Given the description of an element on the screen output the (x, y) to click on. 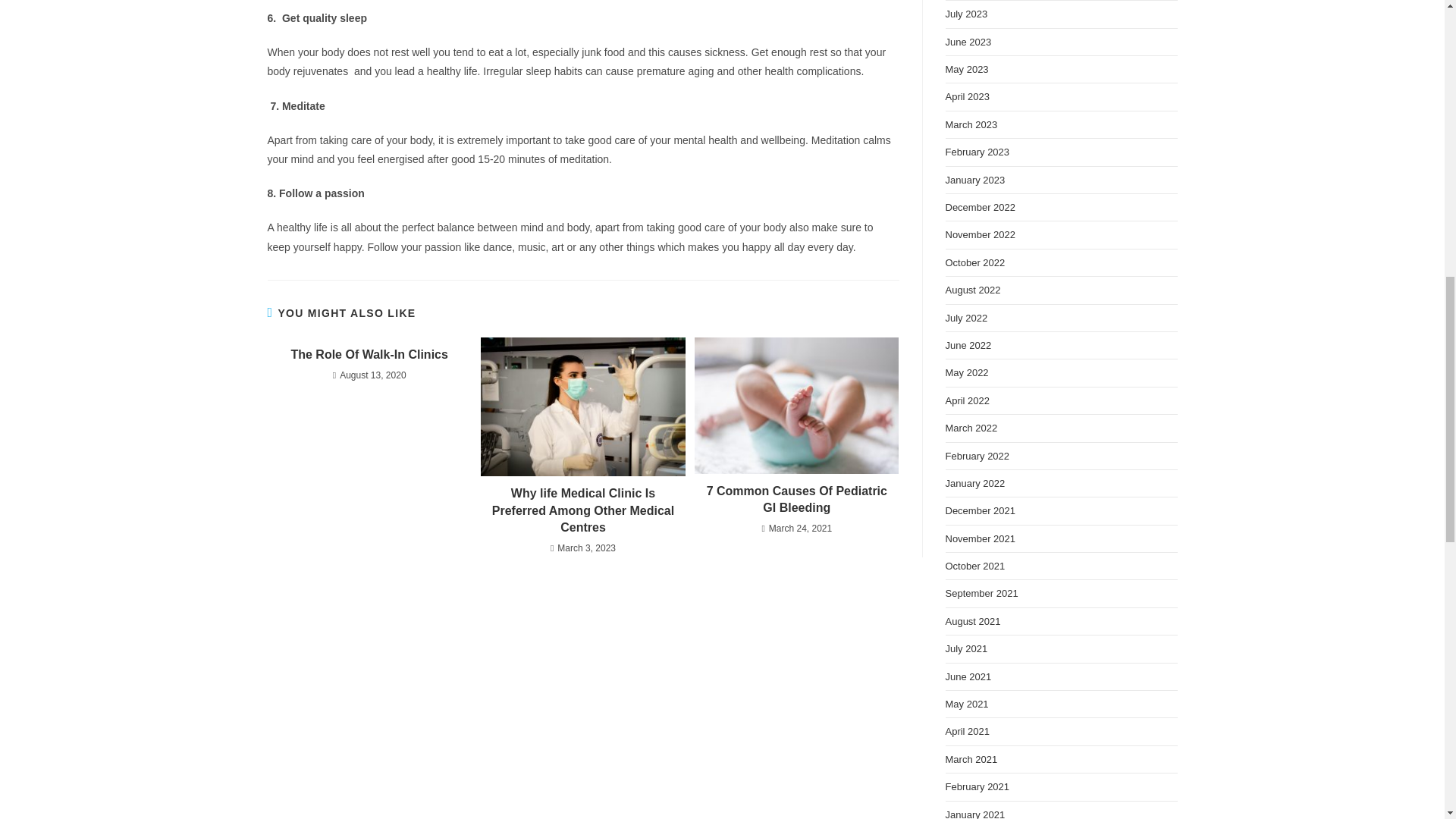
The Role Of Walk-In Clinics (368, 354)
March 2023 (970, 124)
May 2023 (966, 69)
April 2023 (967, 96)
7 Common Causes Of Pediatric GI Bleeding (796, 499)
January 2023 (974, 179)
July 2023 (965, 13)
June 2023 (967, 41)
February 2023 (976, 152)
